Given the description of an element on the screen output the (x, y) to click on. 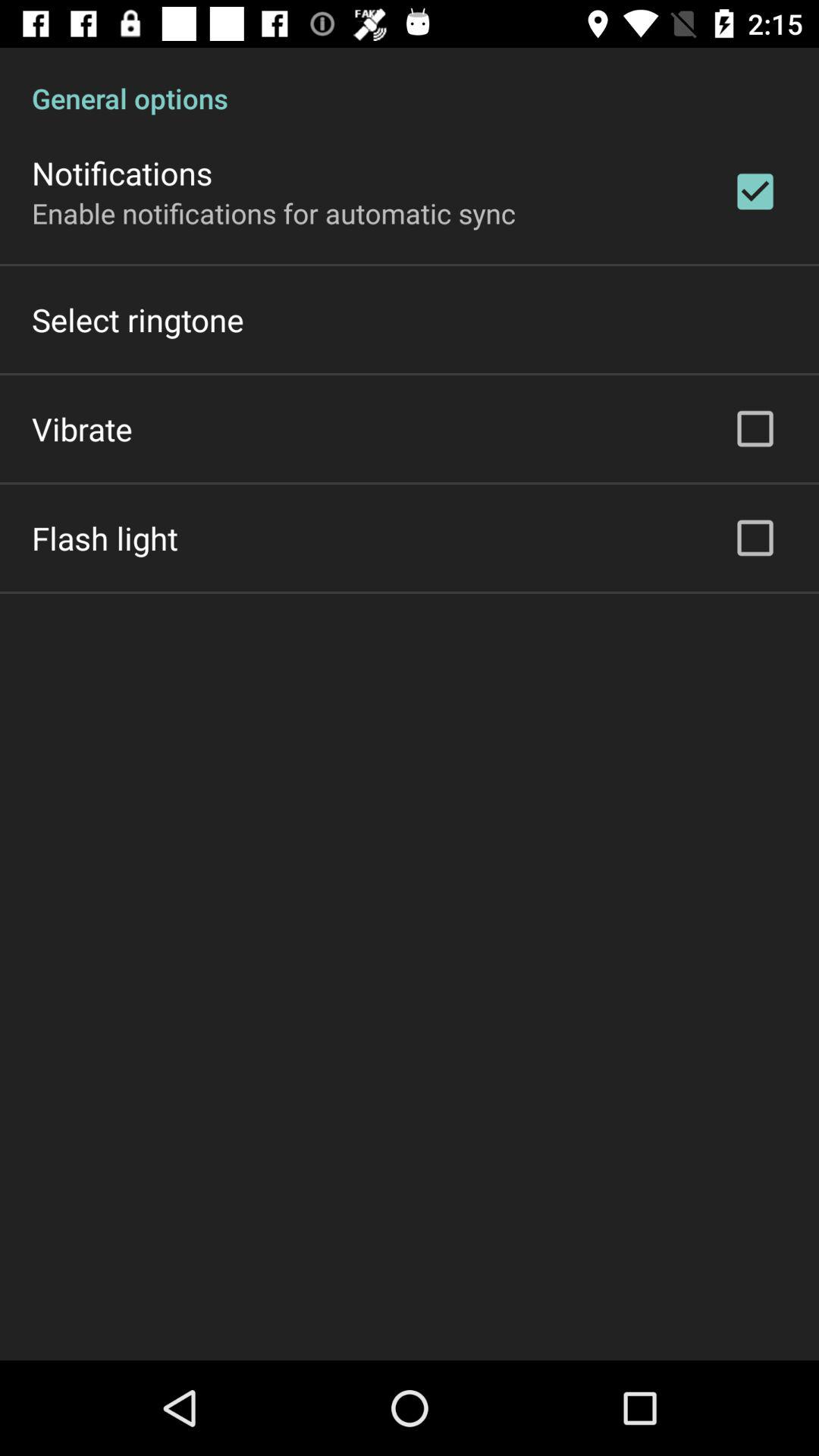
flip until the general options item (409, 82)
